Given the description of an element on the screen output the (x, y) to click on. 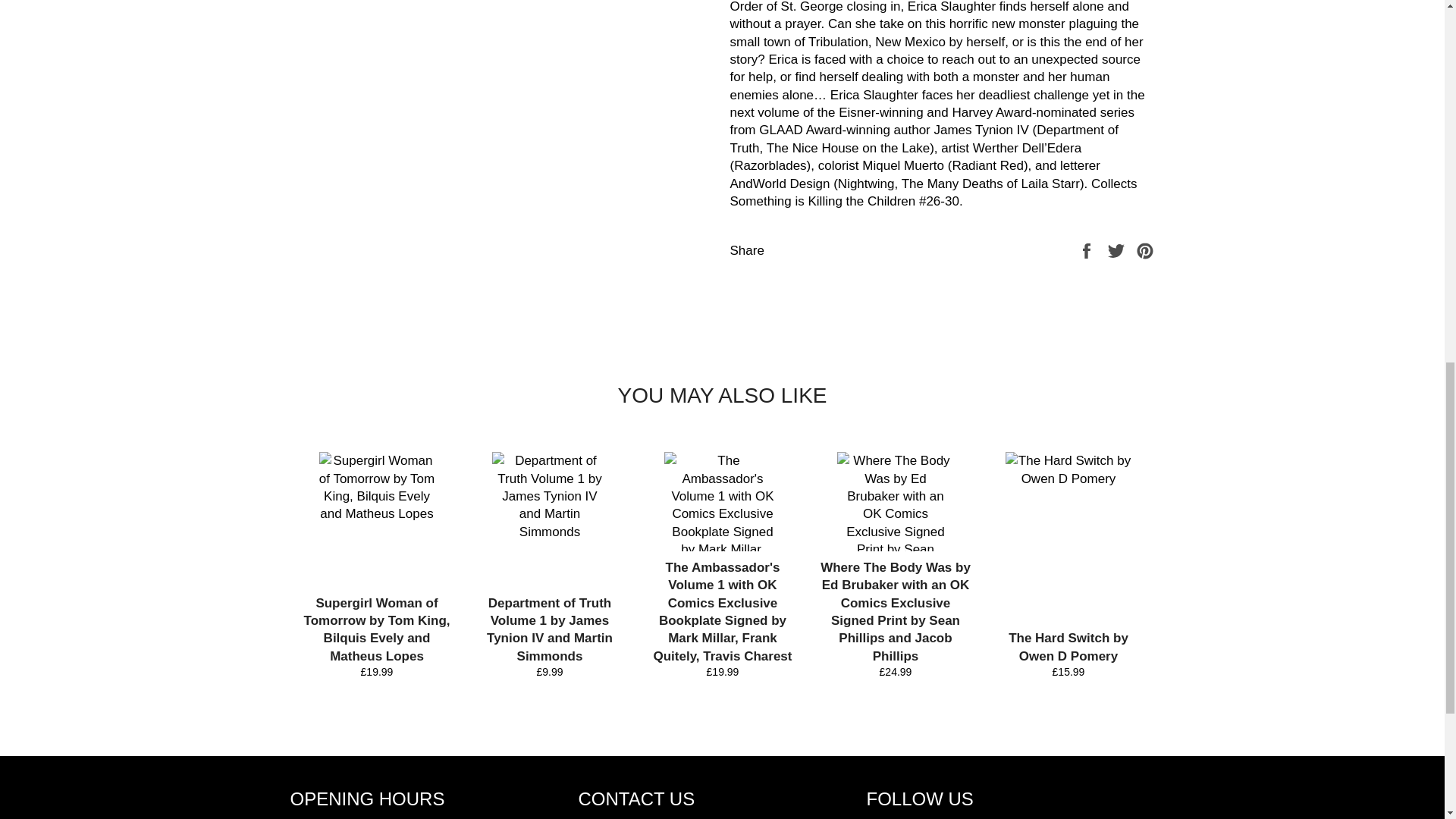
Tweet on Twitter (1117, 249)
Share on Facebook (1088, 249)
Tweet on Twitter (1117, 249)
Pin on Pinterest (1144, 249)
Share on Facebook (1088, 249)
Pin on Pinterest (1144, 249)
